Given the description of an element on the screen output the (x, y) to click on. 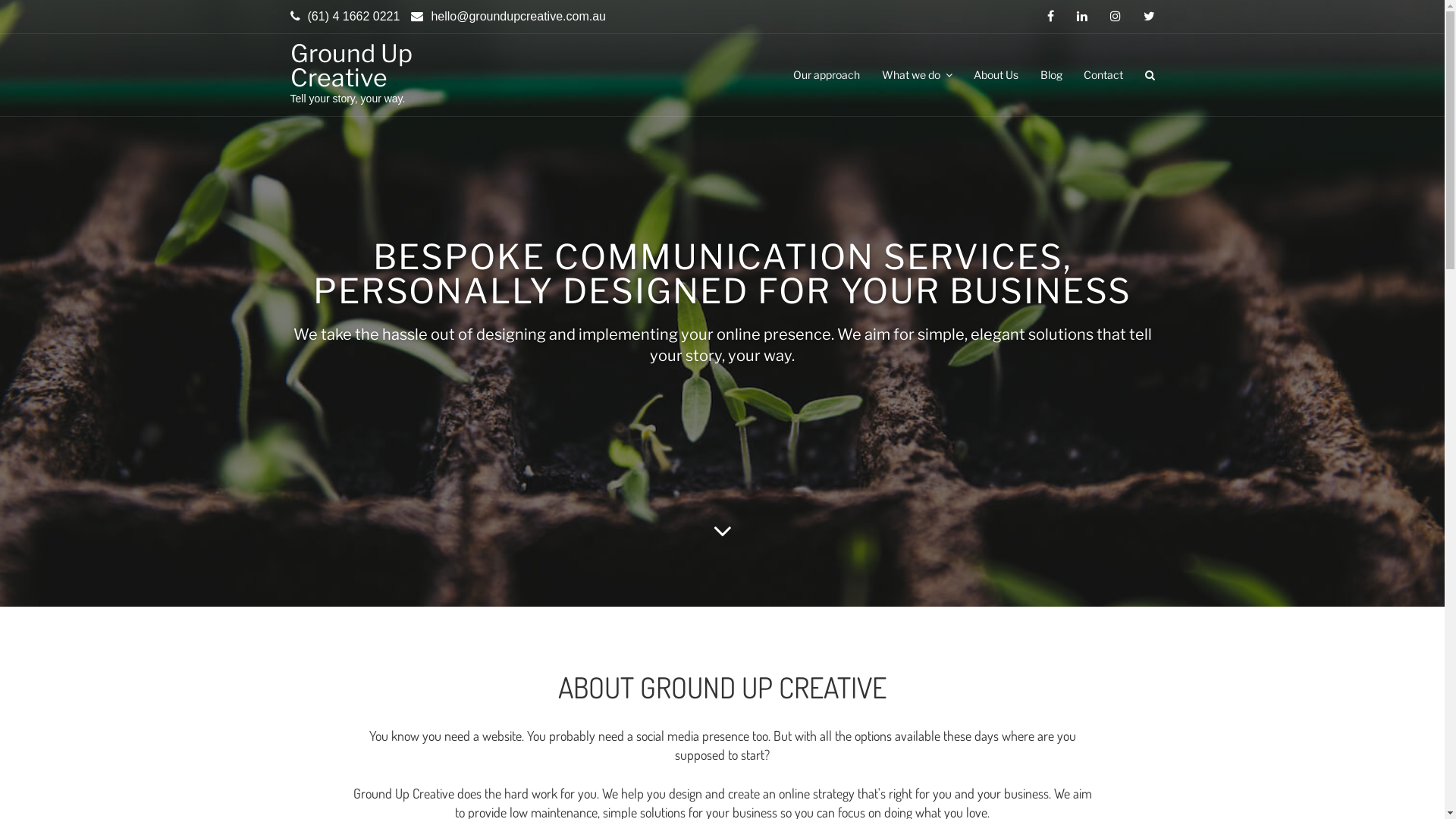
Contact Element type: text (1103, 74)
Blog Element type: text (1051, 74)
About Us Element type: text (995, 74)
Ground Up Creative Element type: text (350, 65)
Our approach Element type: text (826, 74)
What we do Element type: text (916, 74)
hello@groundupcreative.com.au Element type: text (514, 15)
